Given the description of an element on the screen output the (x, y) to click on. 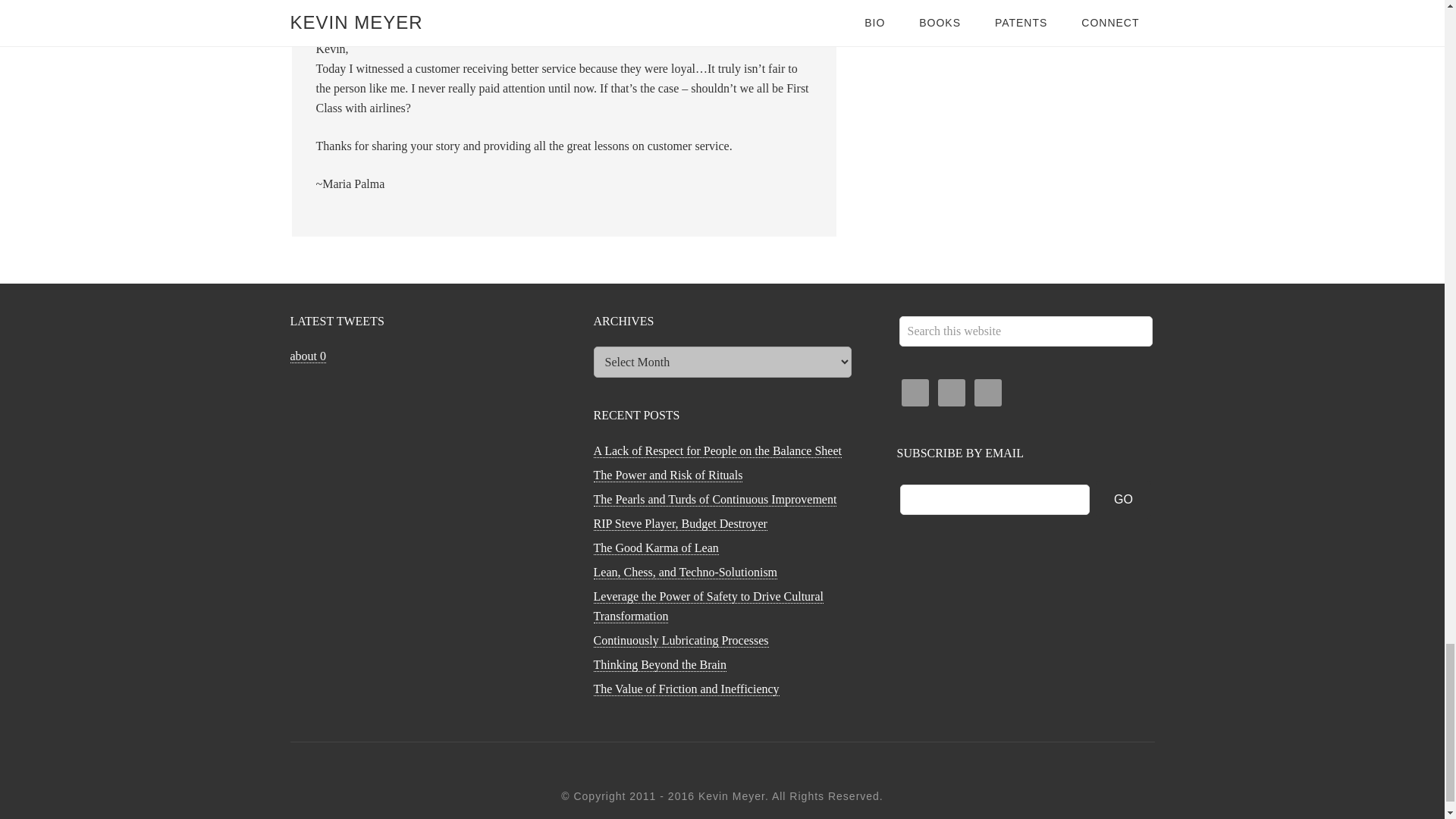
The Power and Risk of Rituals (667, 475)
Go (1123, 499)
about 0 (307, 356)
Lean, Chess, and Techno-Solutionism (684, 572)
23 February 2006 at 10:48 pm (389, 11)
The Value of Friction and Inefficiency (685, 689)
The Good Karma of Lean (654, 548)
The Pearls and Turds of Continuous Improvement (713, 499)
Continuously Lubricating Processes (680, 640)
A Lack of Respect for People on the Balance Sheet (716, 450)
RIP Steve Player, Budget Destroyer (679, 523)
